Given the description of an element on the screen output the (x, y) to click on. 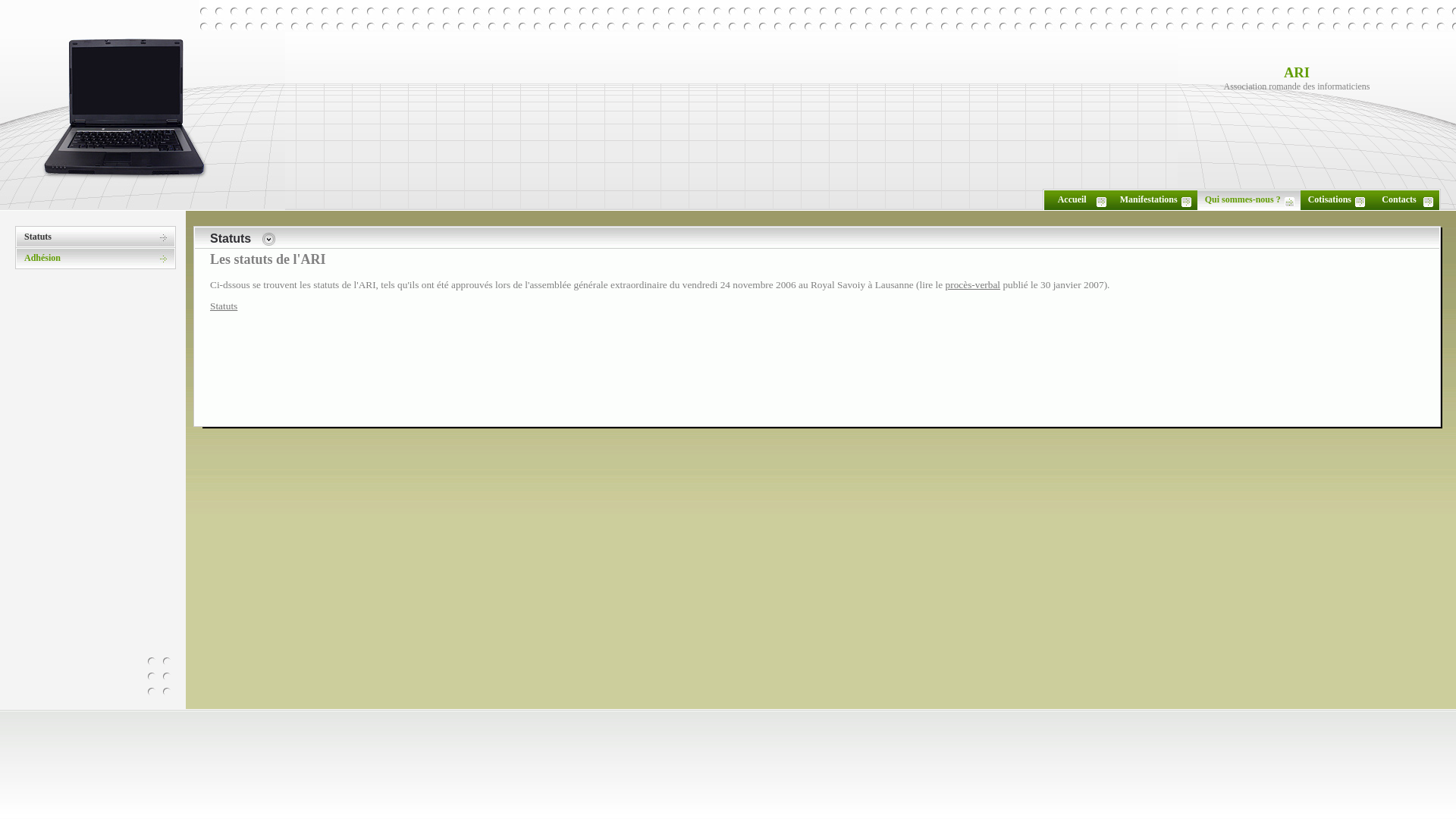
Qui sommes-nous ? Element type: text (1242, 199)
Manifestations Element type: text (1148, 199)
Contacts Element type: text (1398, 199)
Cotisations Element type: text (1329, 199)
Accueil Element type: text (1071, 199)
Statuts Element type: text (223, 306)
